Given the description of an element on the screen output the (x, y) to click on. 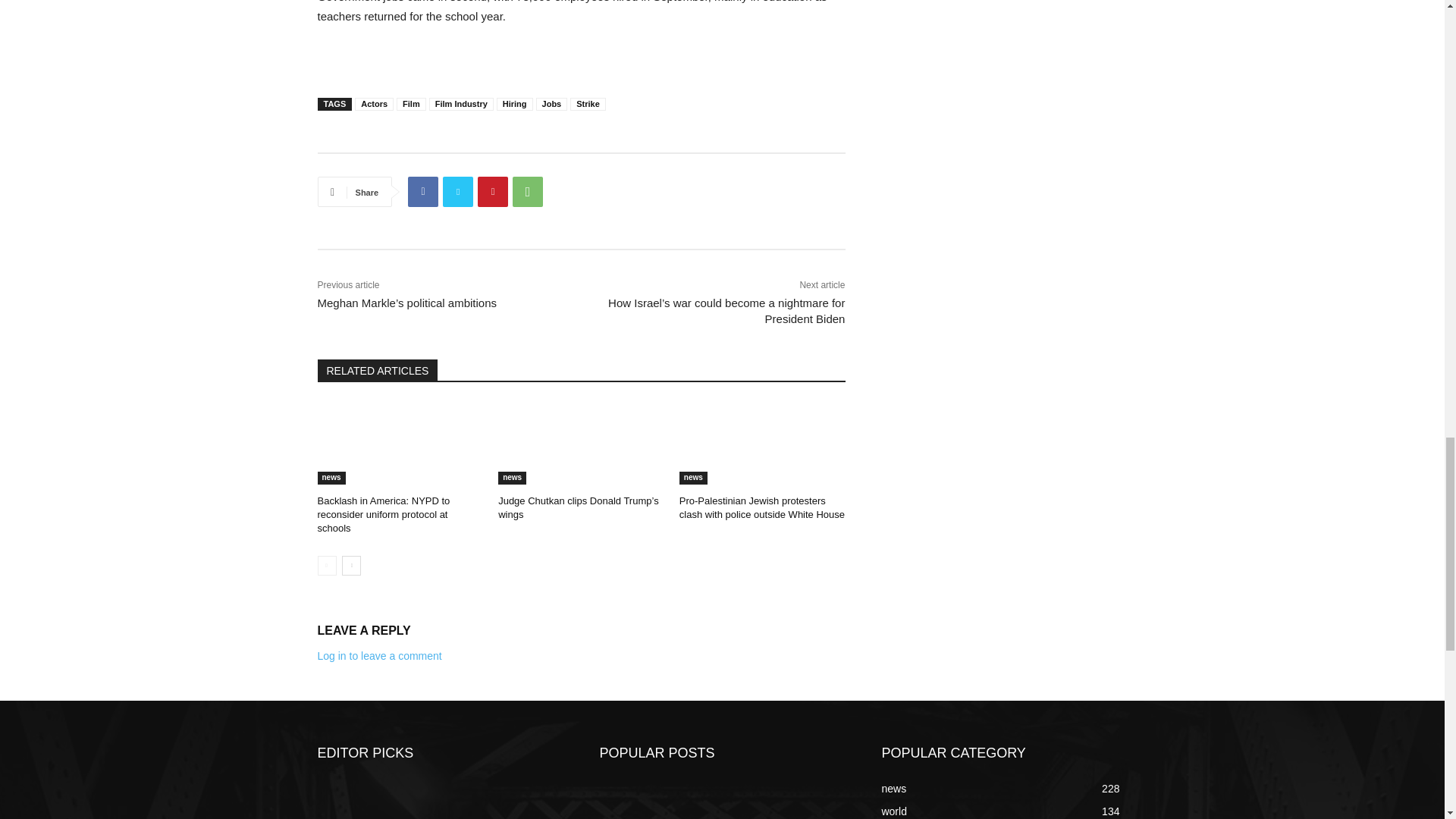
Facebook (422, 191)
